Given the description of an element on the screen output the (x, y) to click on. 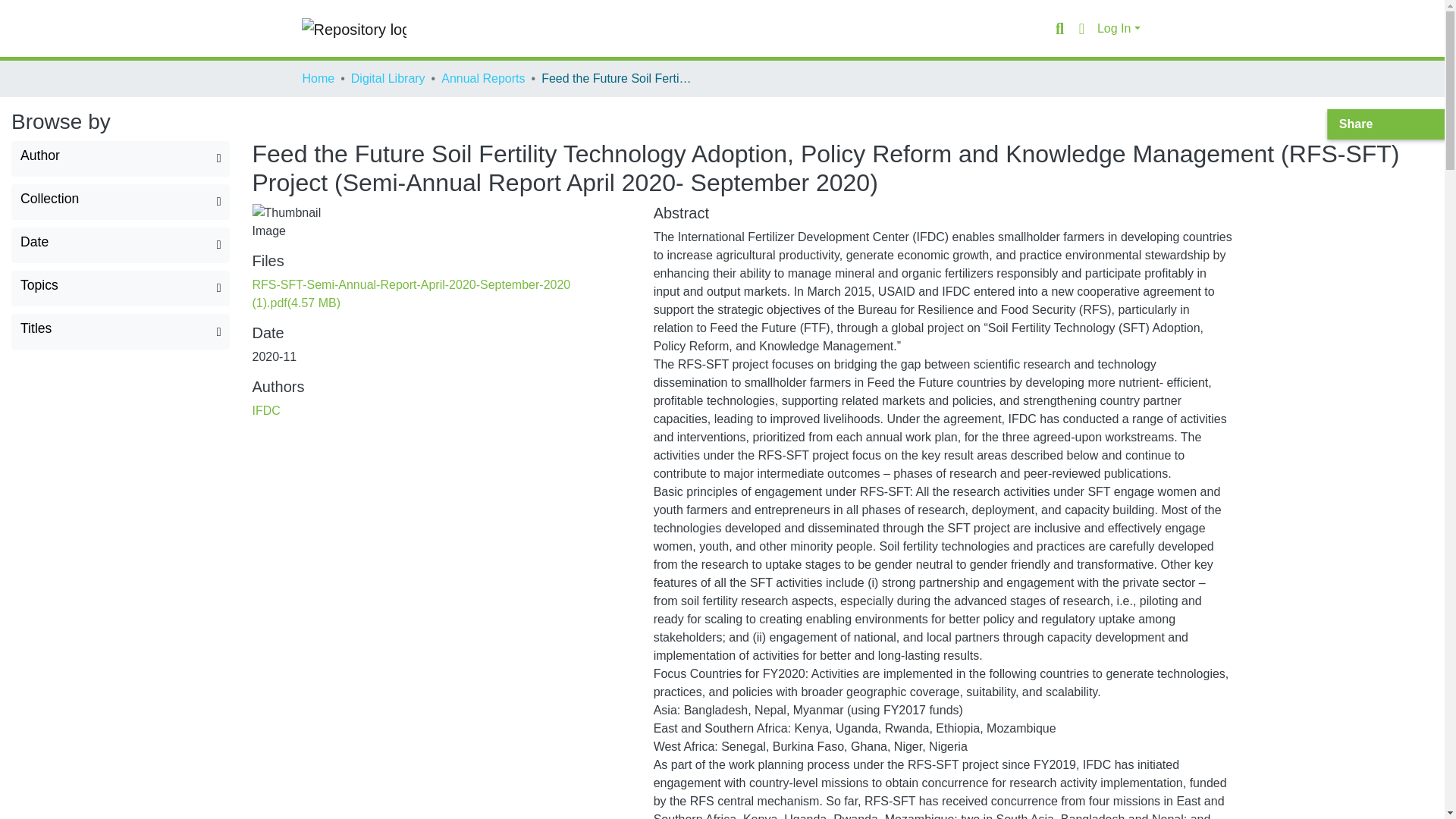
Date (119, 245)
Collection (119, 201)
Author (119, 158)
Digital Library (387, 78)
Language switch (1081, 28)
Search (1058, 28)
Log In (1118, 28)
Annual Reports (482, 78)
Home (317, 78)
Titles (119, 331)
